Given the description of an element on the screen output the (x, y) to click on. 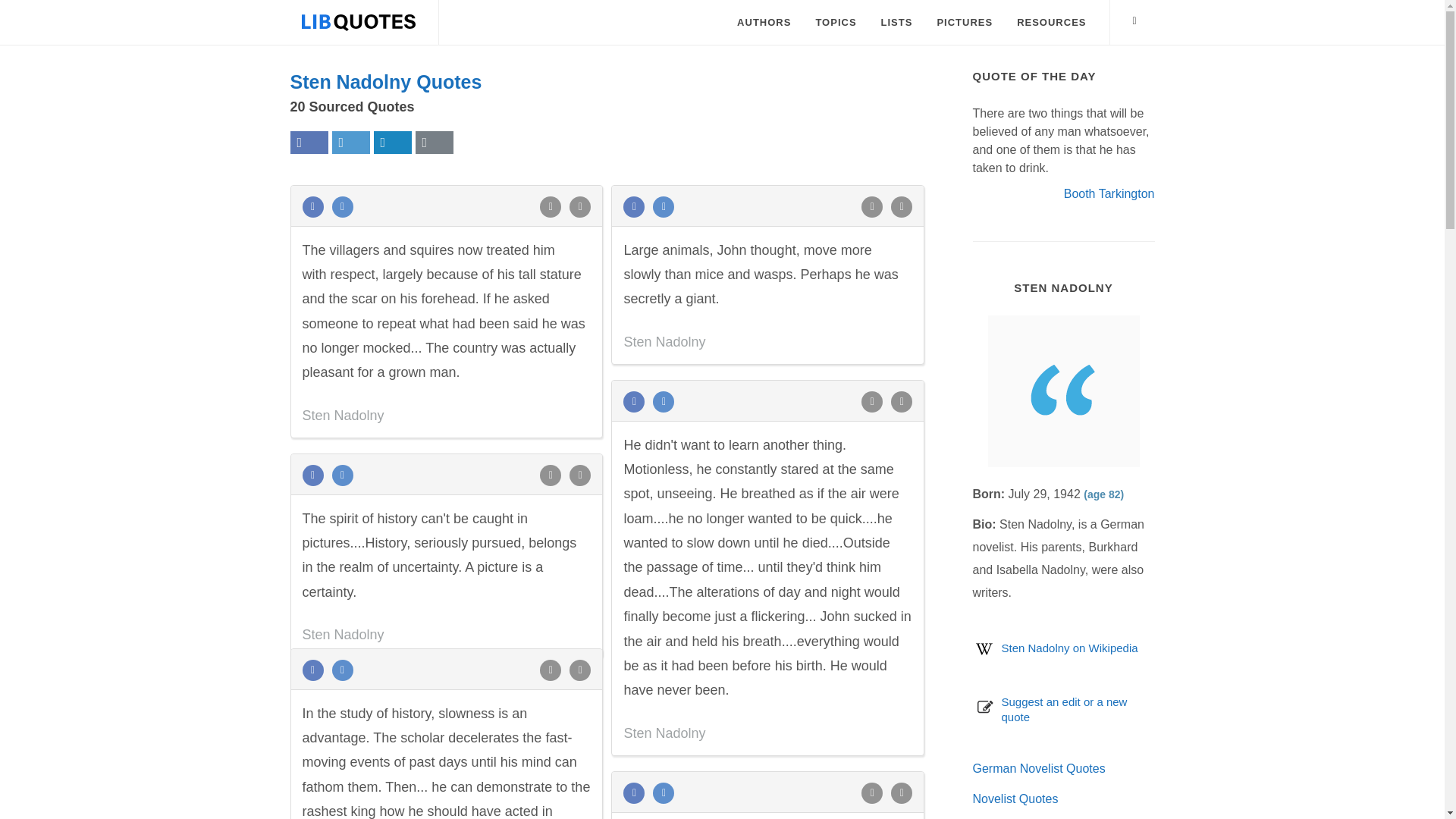
LISTS (896, 22)
TOPICS (835, 22)
RESOURCES (1051, 22)
PICTURES (964, 22)
AUTHORS (763, 22)
